Given the description of an element on the screen output the (x, y) to click on. 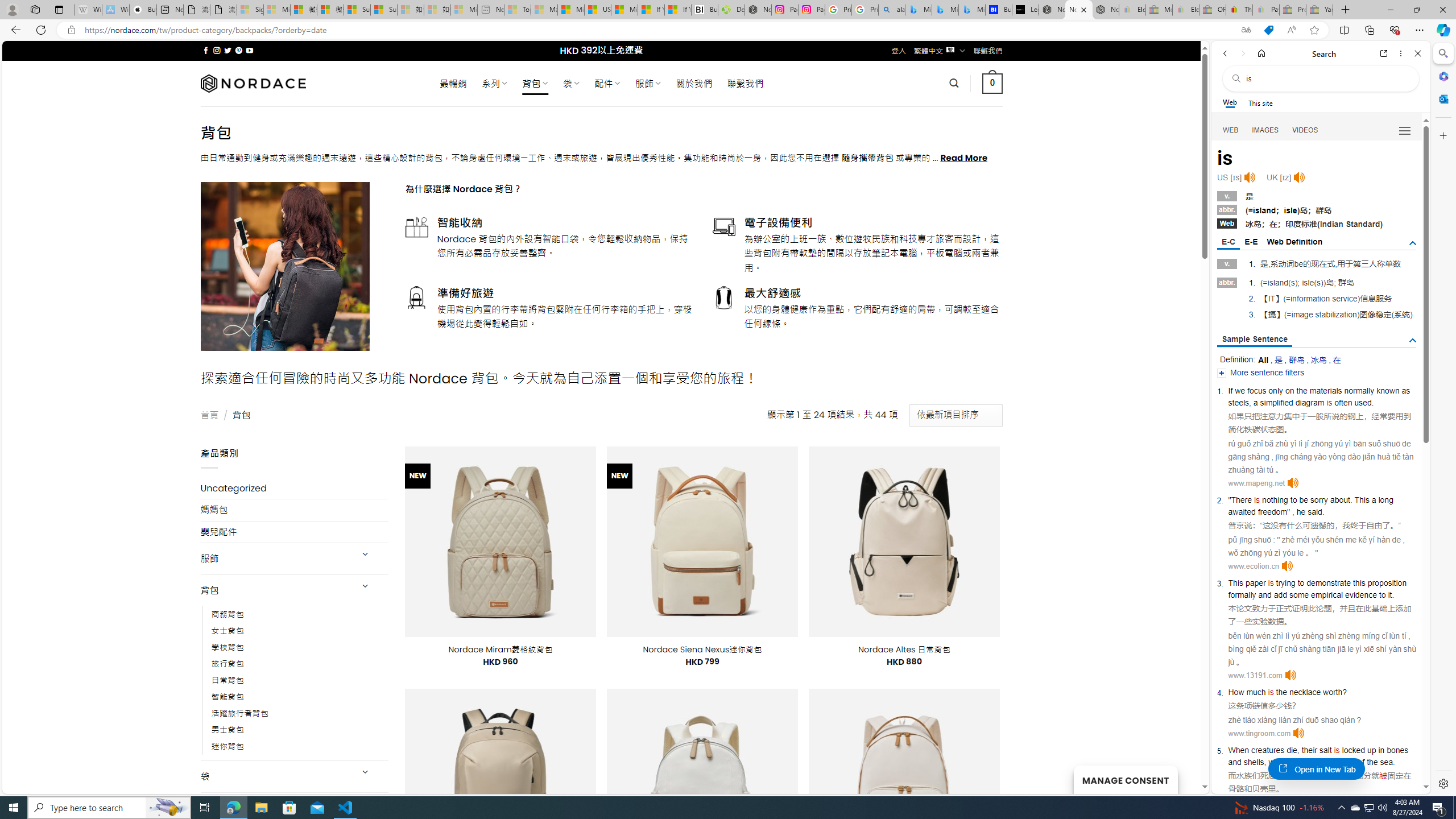
freedom (1272, 511)
is (1336, 750)
some (1298, 594)
this (1358, 582)
die (1292, 750)
Follow on Instagram (216, 50)
